Given the description of an element on the screen output the (x, y) to click on. 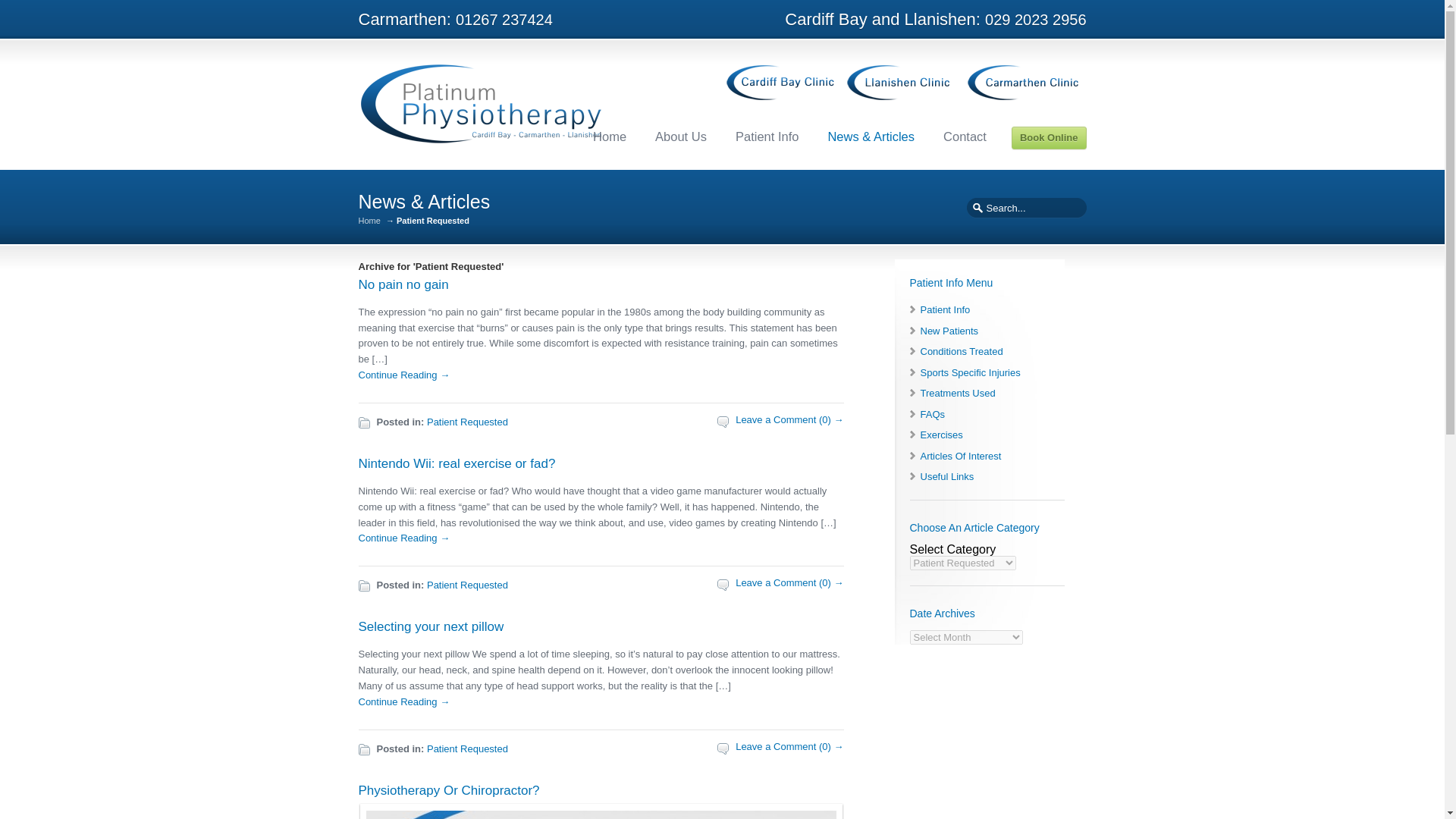
Selecting your next pillow (403, 701)
Search... (1024, 207)
Nintendo Wii: real exercise or fad? (403, 537)
Home (369, 221)
Physiotherapy Or Chiropractor? (448, 789)
Book Online (1048, 137)
Nintendo Wii: real exercise or fad? (456, 463)
Nintendo Wii: real exercise or fad? (456, 463)
Contact (964, 136)
Patient Requested (467, 421)
